Given the description of an element on the screen output the (x, y) to click on. 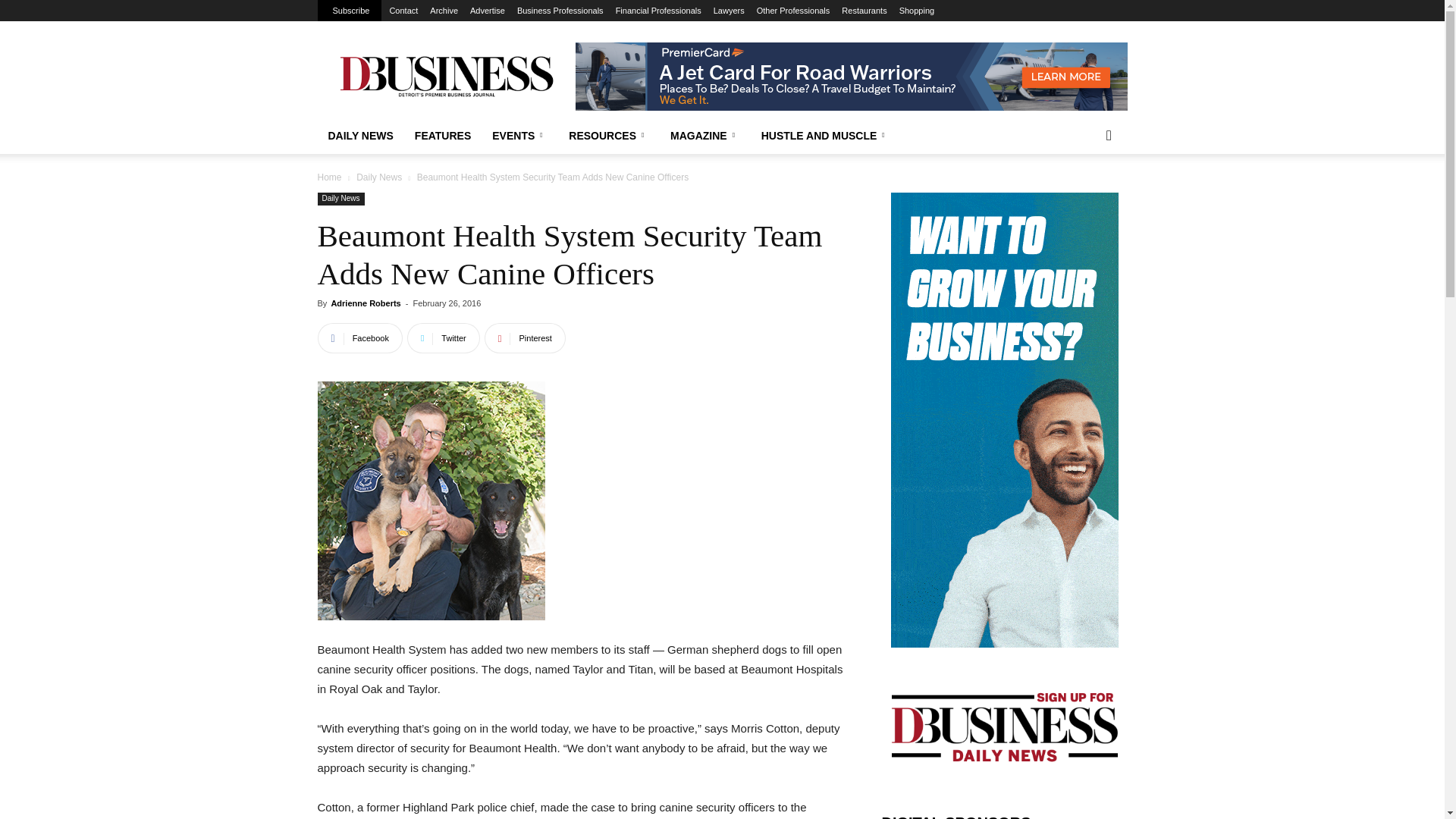
DBusiness Magazine (445, 76)
View all posts in Daily News (378, 176)
Beaumont.jpg (430, 500)
Posts by Adrienne Roberts (365, 302)
